Given the description of an element on the screen output the (x, y) to click on. 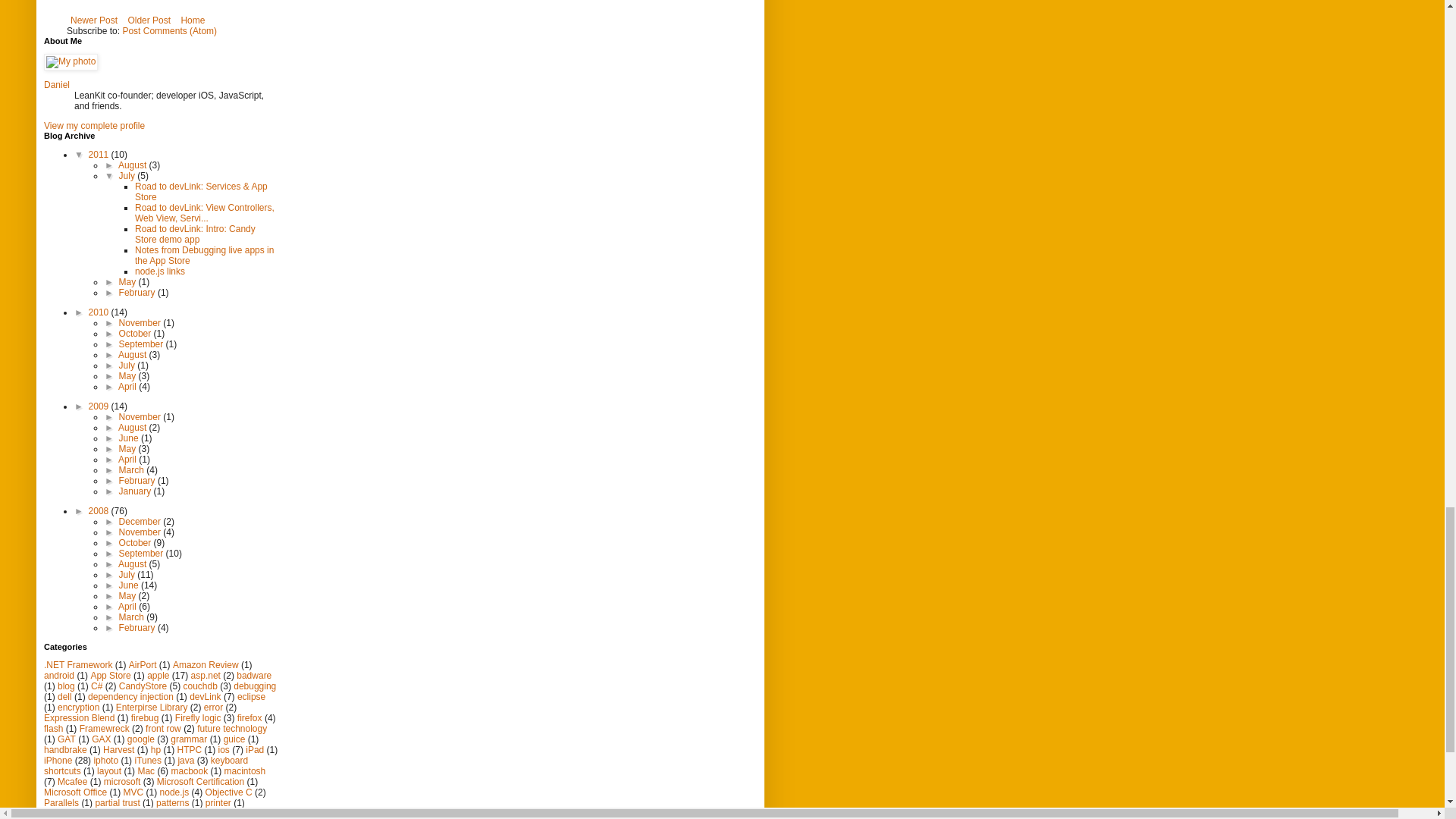
Newer Post (93, 20)
Home (192, 20)
Newer Post (93, 20)
Older Post (148, 20)
Older Post (148, 20)
Daniel (56, 84)
View my complete profile (93, 125)
Advertisement (180, 6)
